Given the description of an element on the screen output the (x, y) to click on. 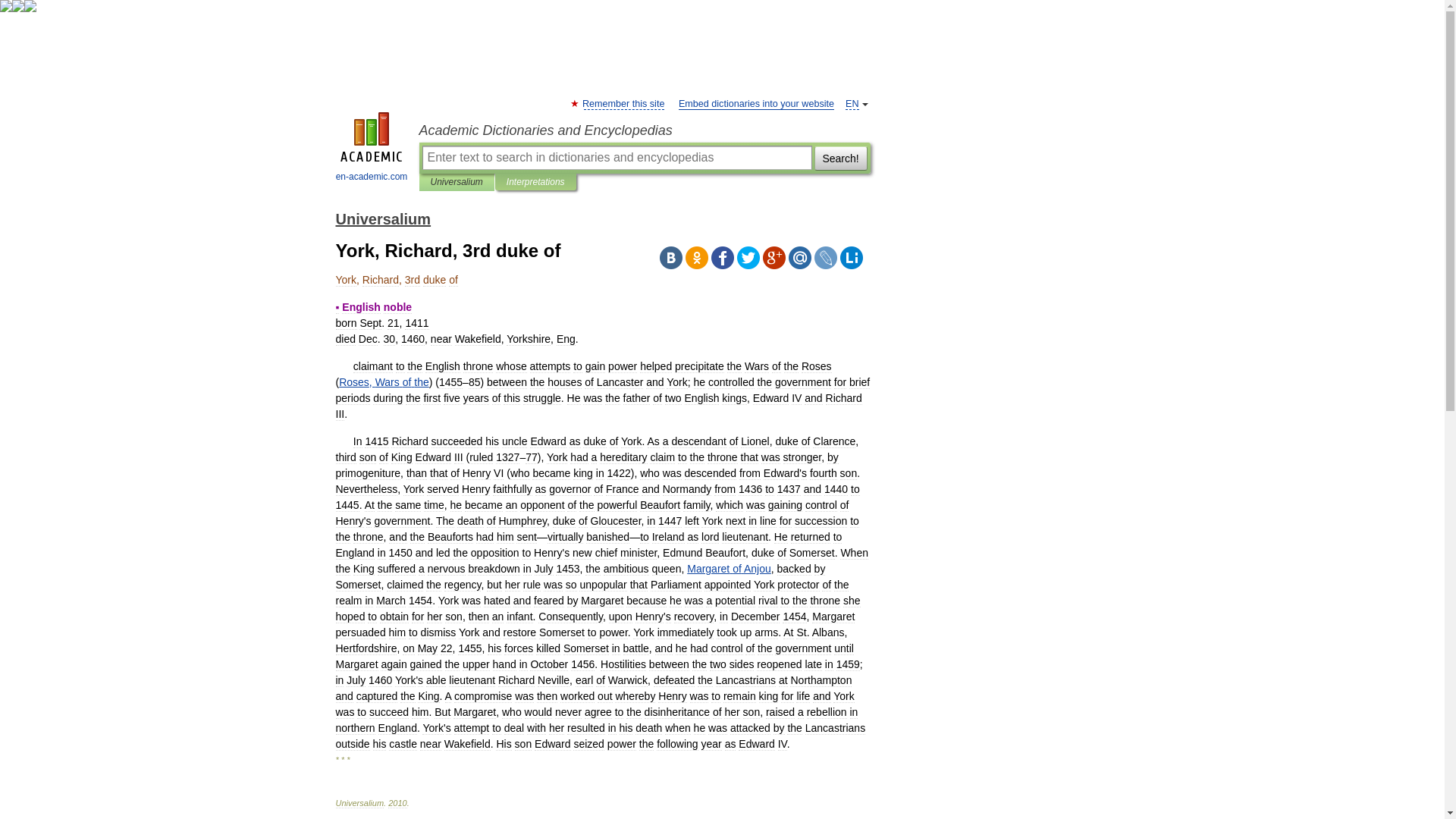
en-academic.com (371, 148)
Enter text to search in dictionaries and encyclopedias (616, 157)
Interpretations (535, 181)
Academic Dictionaries and Encyclopedias (644, 130)
Embed dictionaries into your website (756, 103)
Remember this site (623, 103)
Search! (840, 157)
Universalium (382, 218)
Margaret of Anjou (729, 568)
Roses, Wars of the (384, 381)
EN (852, 103)
Universalium (456, 181)
